Given the description of an element on the screen output the (x, y) to click on. 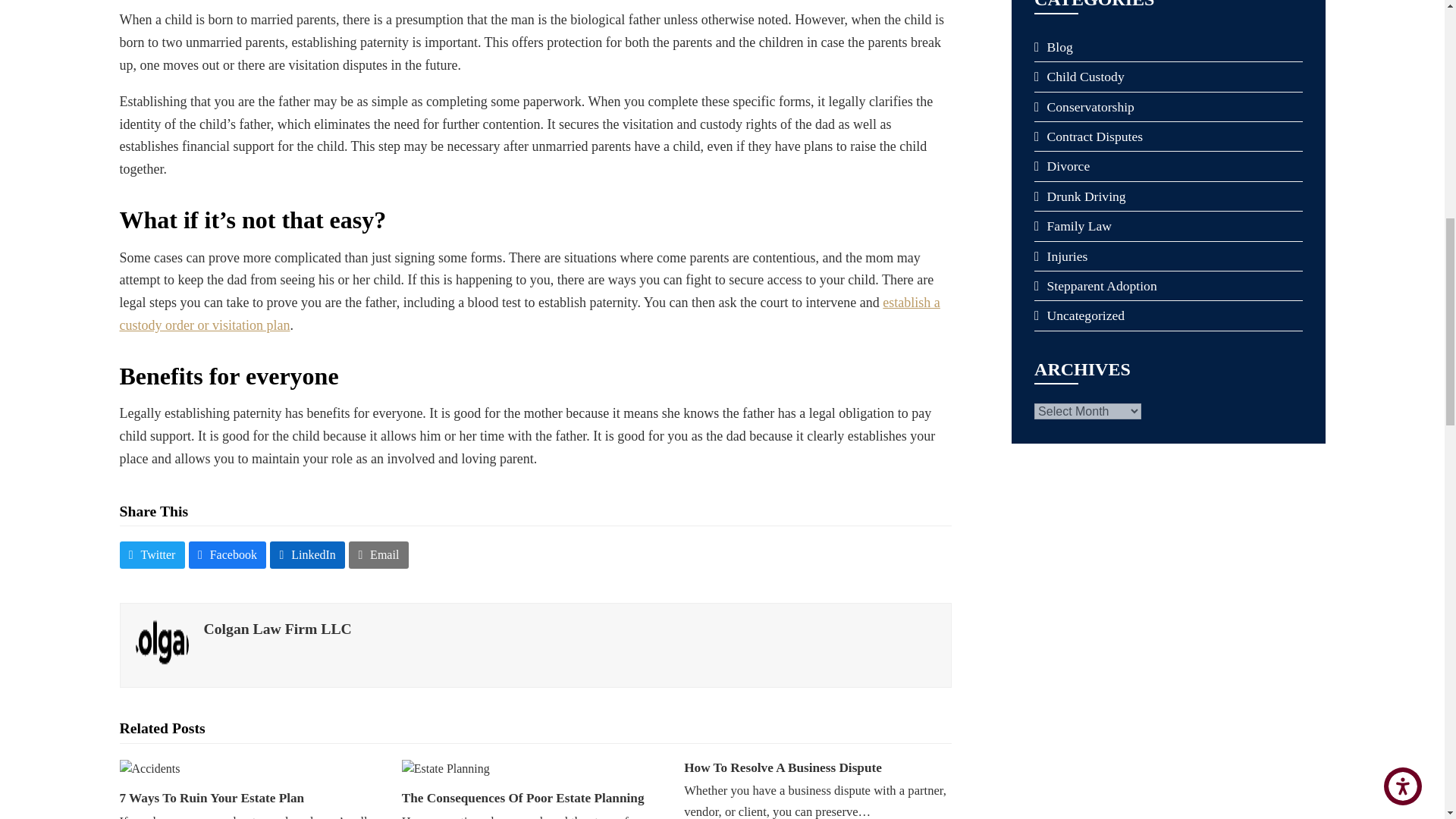
Visit Author Page (276, 628)
Visit Author Page (161, 644)
The Consequences Of Poor Estate Planning (445, 767)
7 Ways To Ruin Your Estate Plan (149, 767)
